Given the description of an element on the screen output the (x, y) to click on. 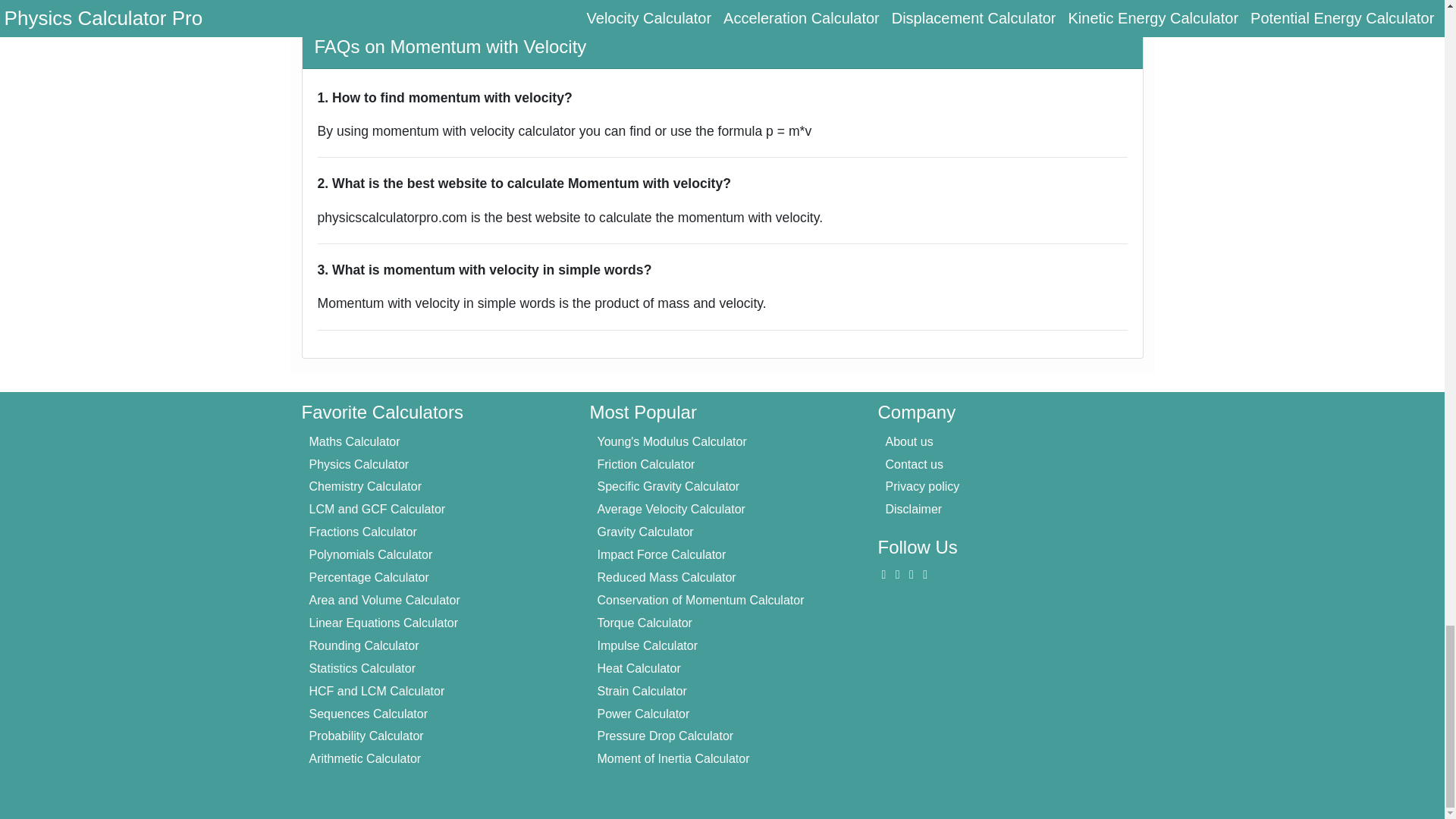
Friction Calculator (645, 463)
Percentage Calculator (368, 576)
Chemistry Calculator (365, 486)
Arithmetic Calculator (365, 758)
Probability Calculator (365, 735)
Physics Calculator (358, 463)
Sequences Calculator (368, 713)
Torque Calculator (643, 622)
Rounding Calculator (363, 645)
LCM and GCF Calculator (376, 508)
